Given the description of an element on the screen output the (x, y) to click on. 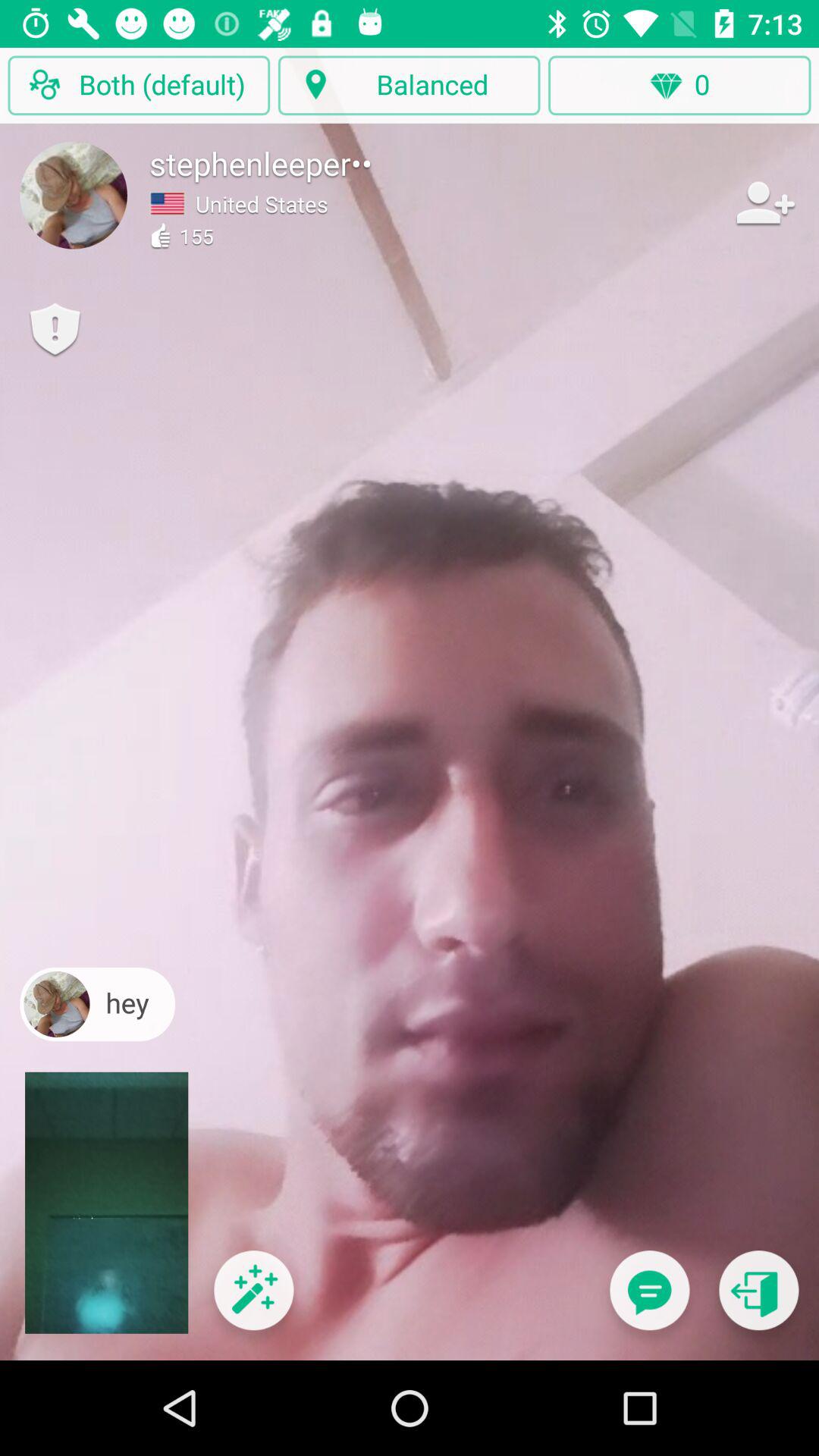
send a text message (649, 1300)
